Given the description of an element on the screen output the (x, y) to click on. 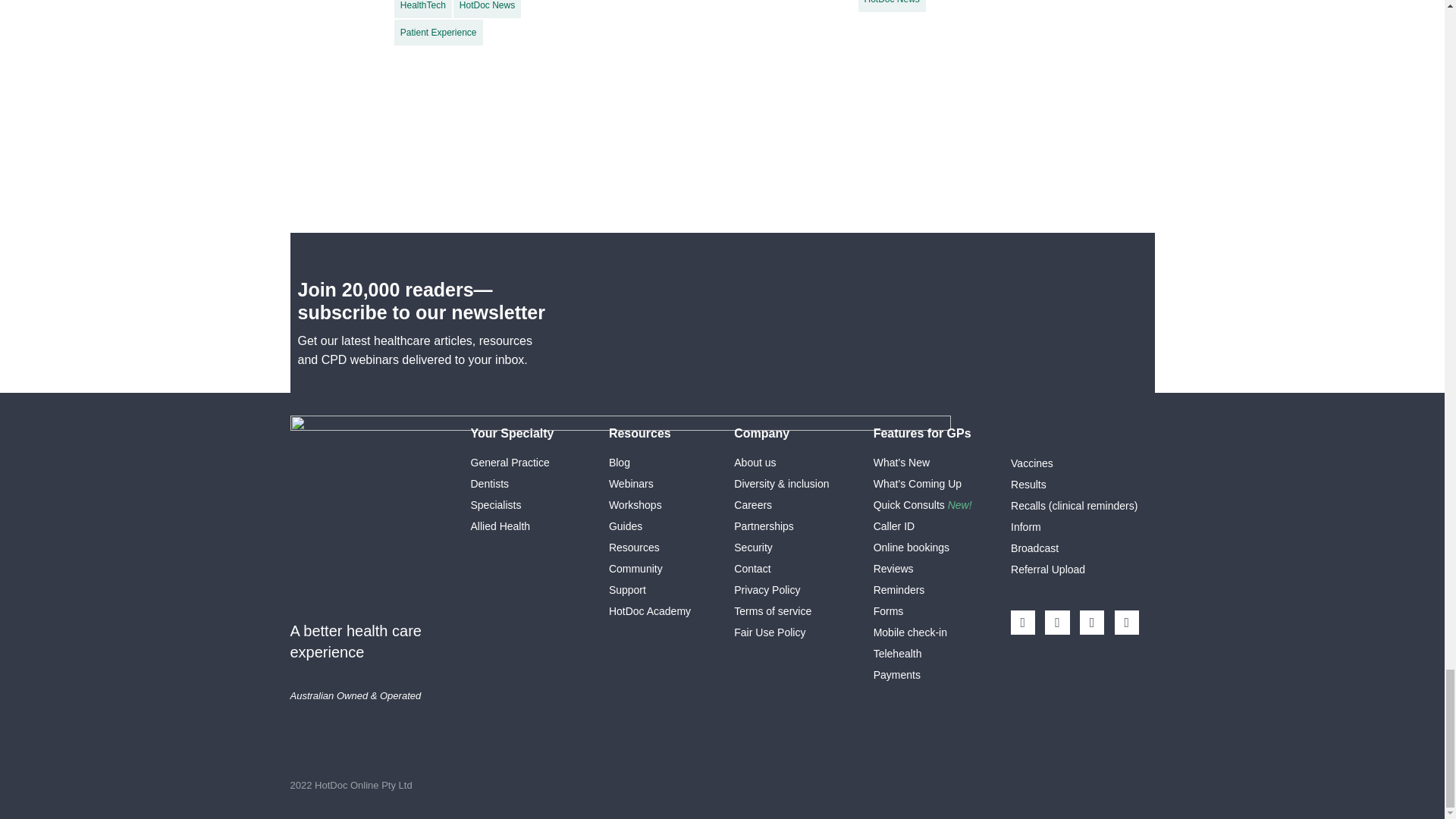
HotDoc News (486, 9)
HealthTech (422, 9)
General Practice (509, 462)
Specialists (495, 504)
Patient Experience (438, 32)
HotDoc News (892, 6)
Dentists (489, 483)
